Given the description of an element on the screen output the (x, y) to click on. 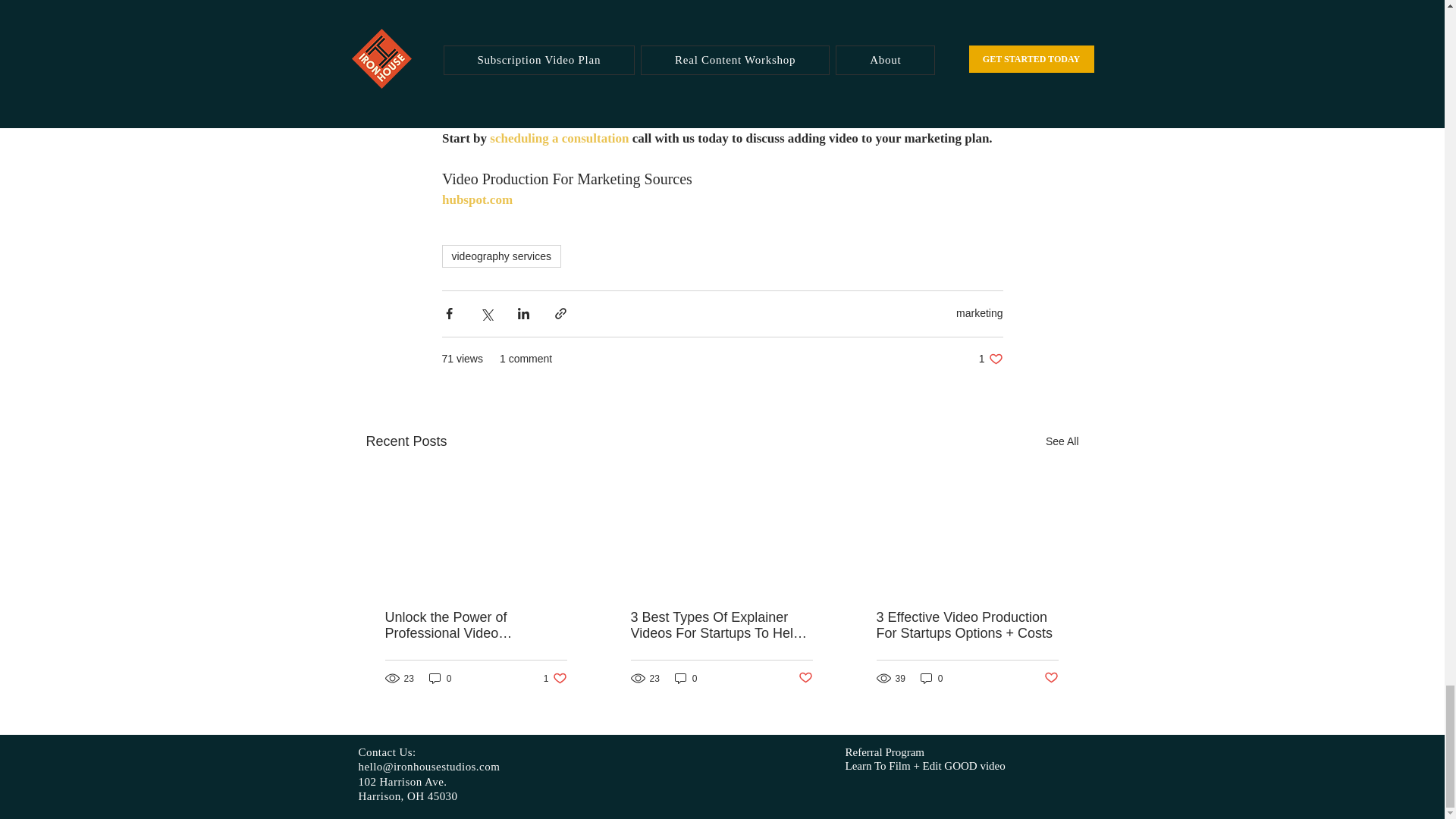
scheduling a consultation (558, 138)
See All (1061, 441)
marketing (979, 313)
videography services (500, 255)
hubspot.com (476, 199)
